Given the description of an element on the screen output the (x, y) to click on. 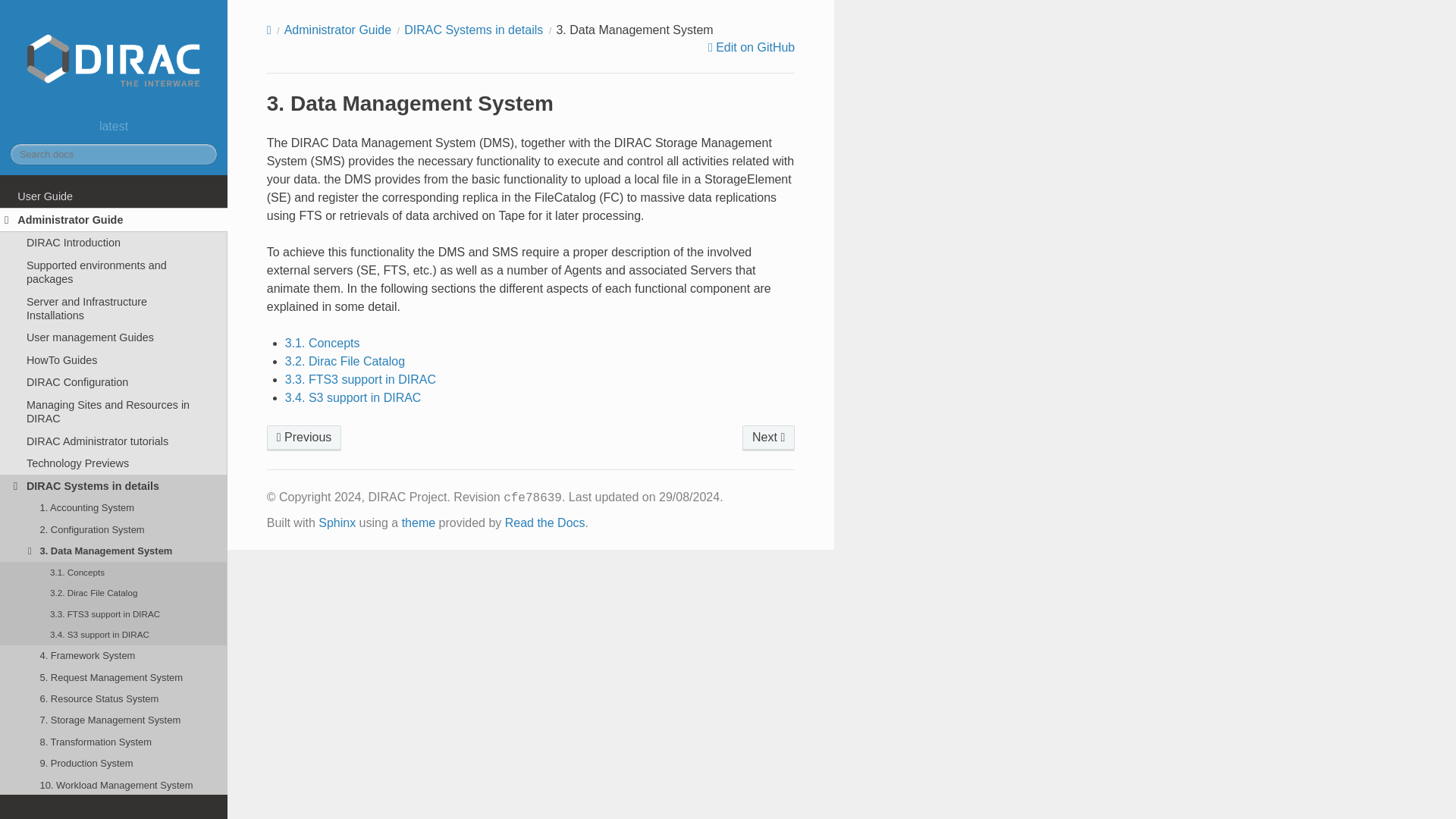
DIRAC Configuration (113, 382)
3.3. FTS3 support in DIRAC (113, 613)
DIRAC Systems in details (473, 29)
4. Framework System (113, 655)
User Guide (113, 196)
1. Accounting System (113, 507)
DIRAC Administrator tutorials (113, 440)
Supported environments and packages (113, 271)
Administrator Guide (113, 219)
2. Configuration System (304, 438)
